Given the description of an element on the screen output the (x, y) to click on. 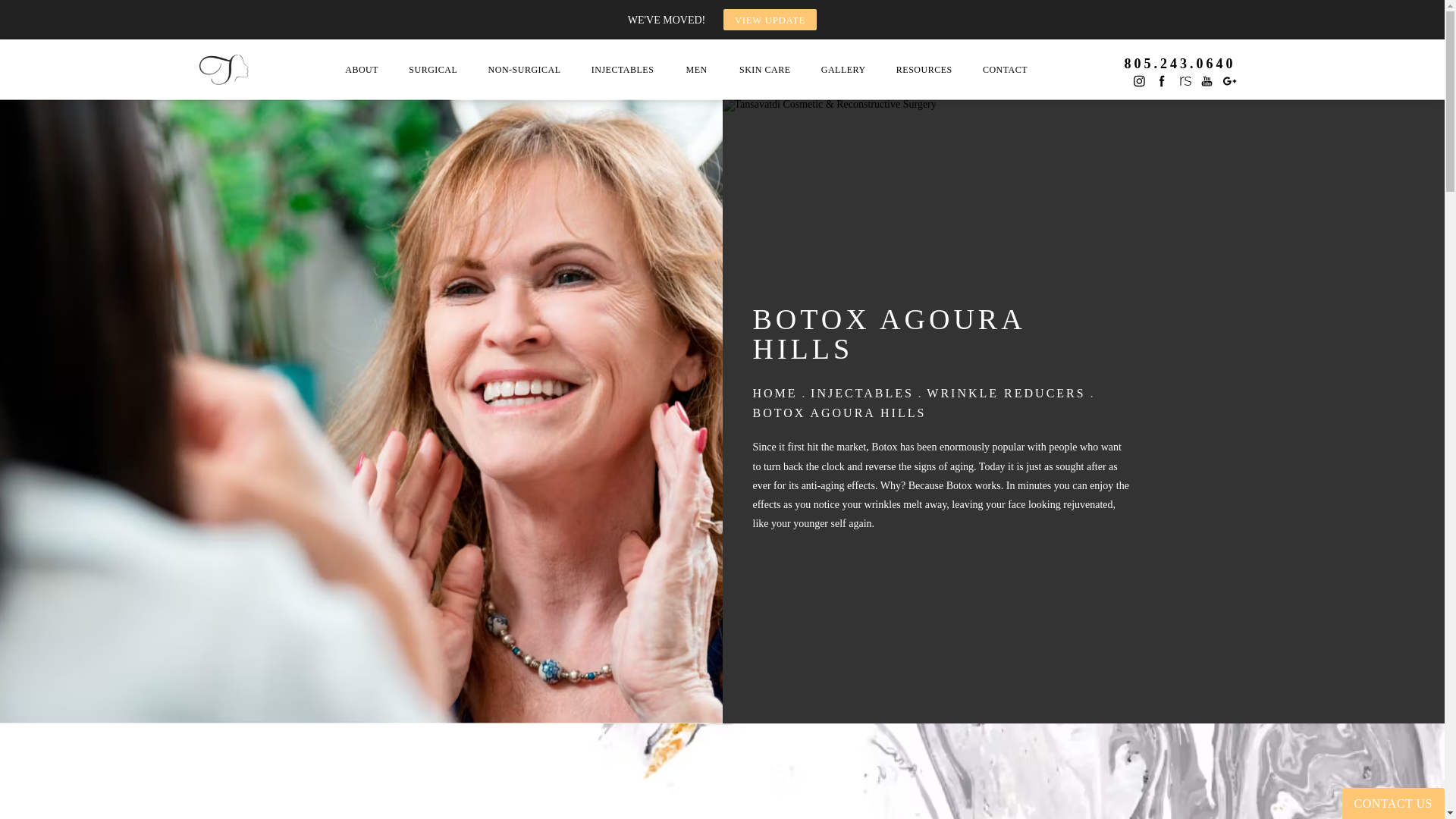
VIEW UPDATE (769, 19)
SURGICAL (432, 69)
NON-SURGICAL (524, 69)
ABOUT (361, 69)
